Given the description of an element on the screen output the (x, y) to click on. 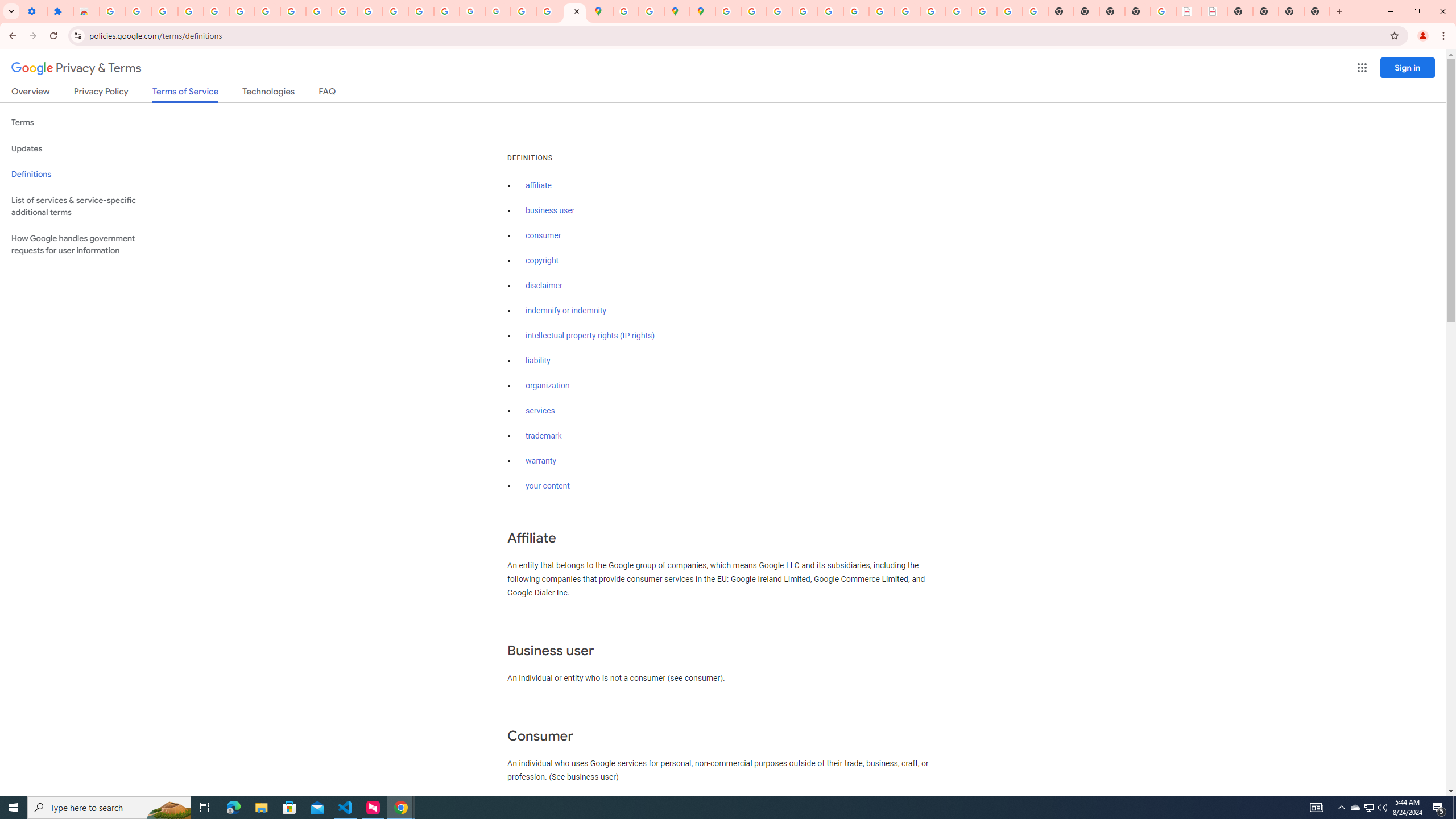
Safety in Our Products - Google Safety Center (651, 11)
New Tab (1316, 11)
copyright (542, 260)
New Tab (1137, 11)
